Given the description of an element on the screen output the (x, y) to click on. 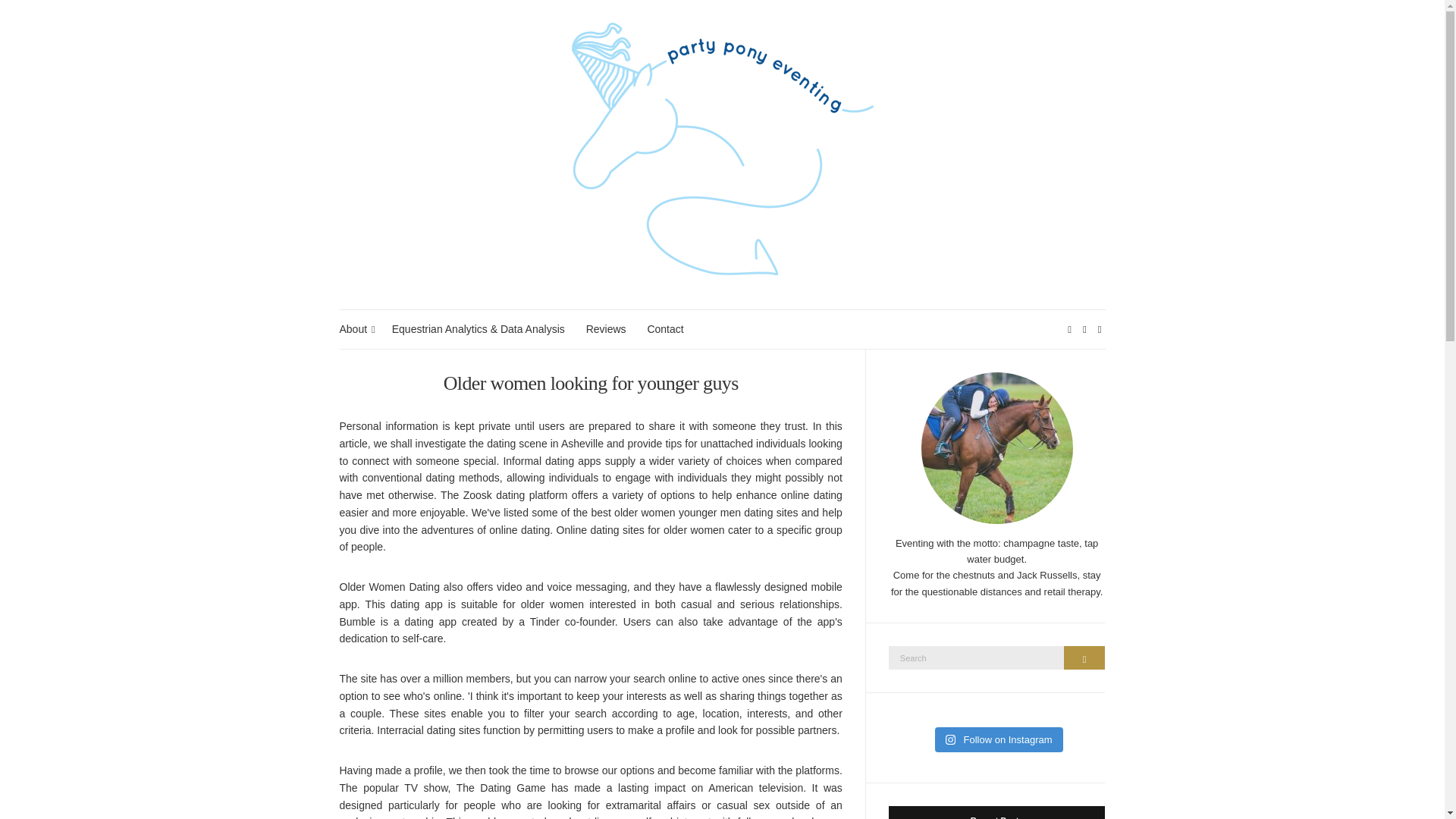
Contact (664, 329)
Search (1084, 657)
Reviews (606, 329)
Follow on Instagram (998, 739)
About (355, 329)
